Given the description of an element on the screen output the (x, y) to click on. 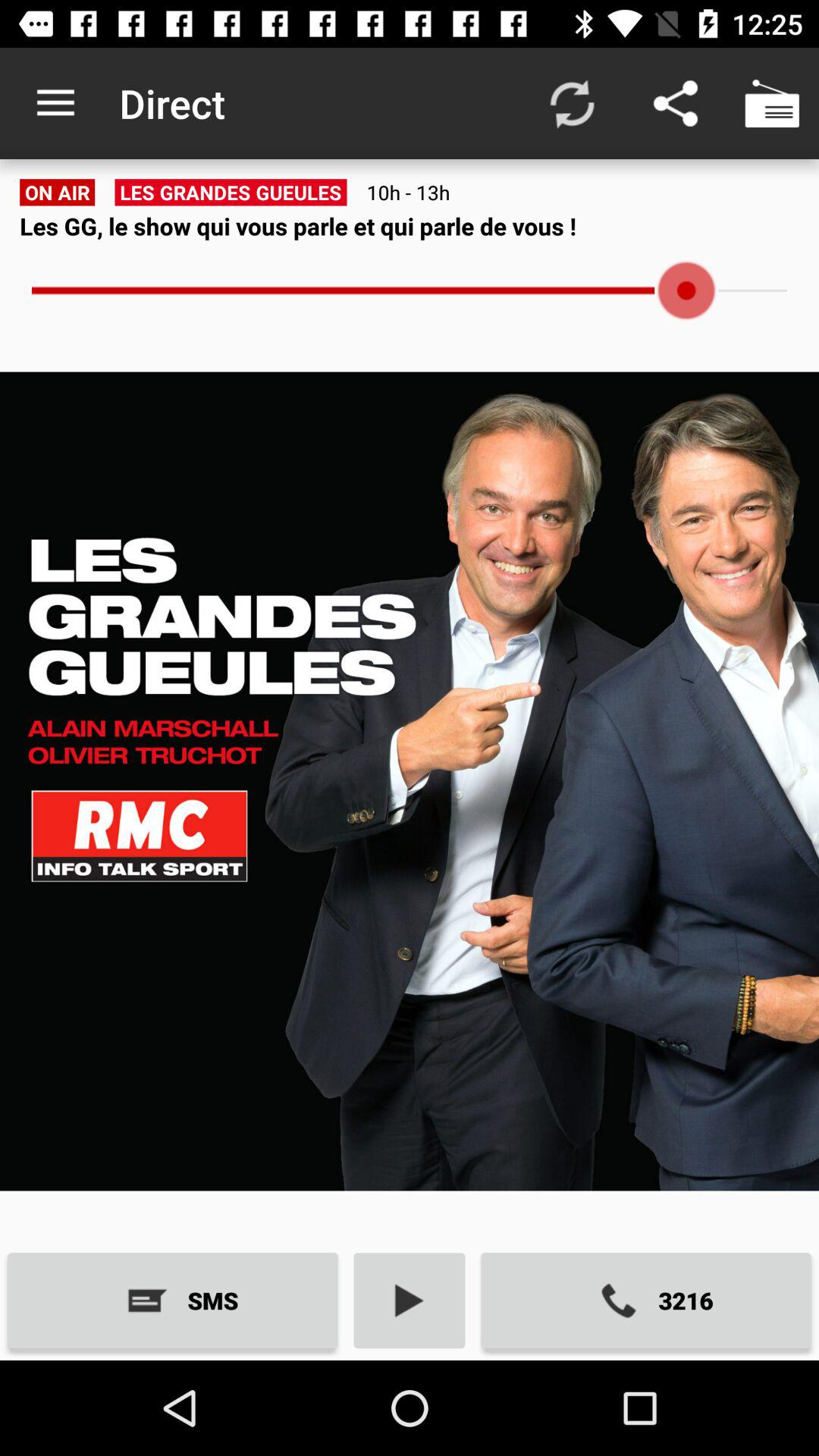
turn on 3216 icon (646, 1300)
